Given the description of an element on the screen output the (x, y) to click on. 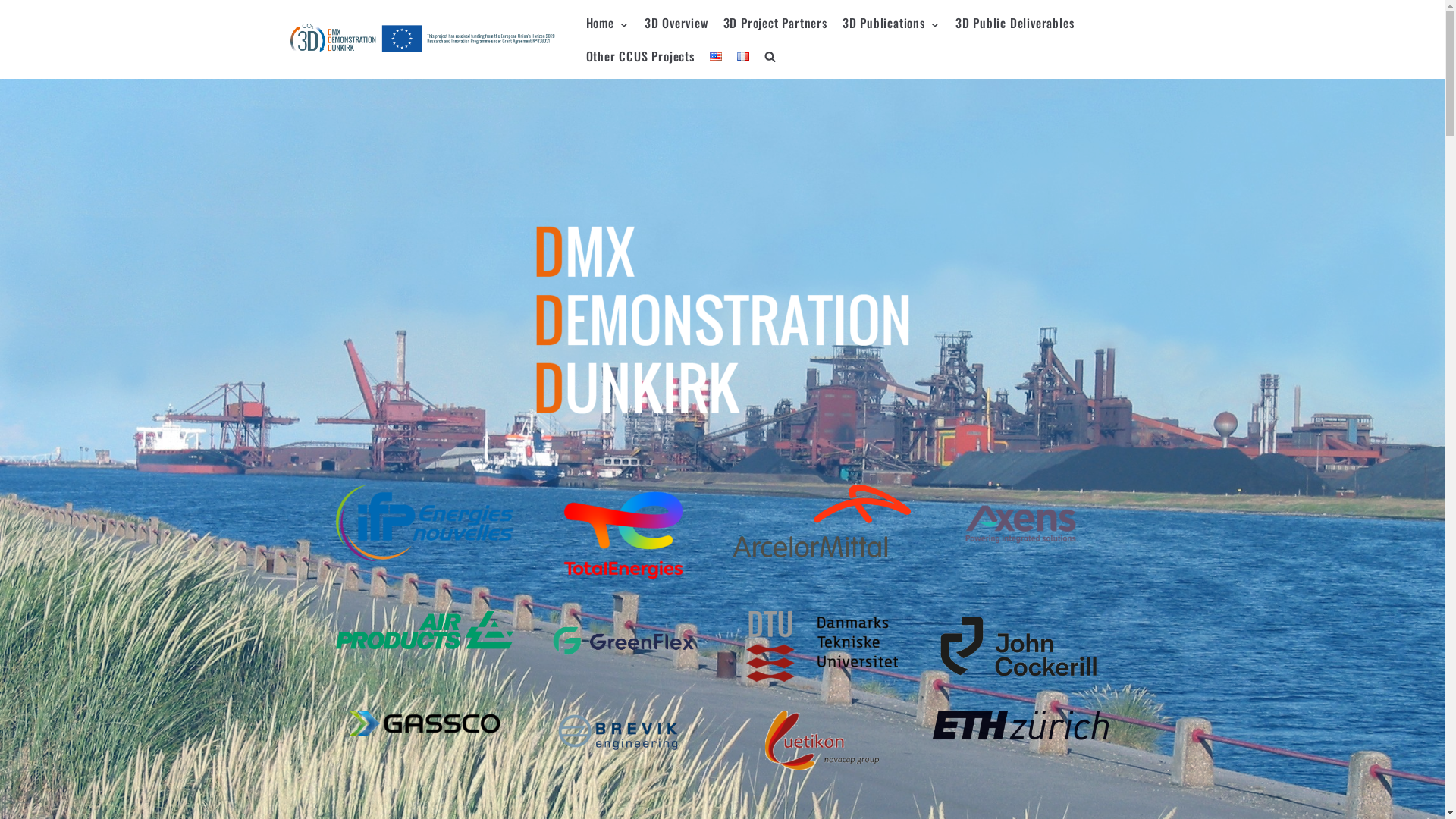
Search Element type: text (743, 87)
3D Public Deliverables Element type: text (1014, 22)
3D Project Partners Element type: text (775, 22)
Home Element type: text (606, 22)
Skip to content Element type: text (15, 7)
Other CCUS Projects Element type: text (639, 56)
3D Element type: hover (422, 39)
3D Publications Element type: text (891, 22)
3D Overview Element type: text (676, 22)
